Given the description of an element on the screen output the (x, y) to click on. 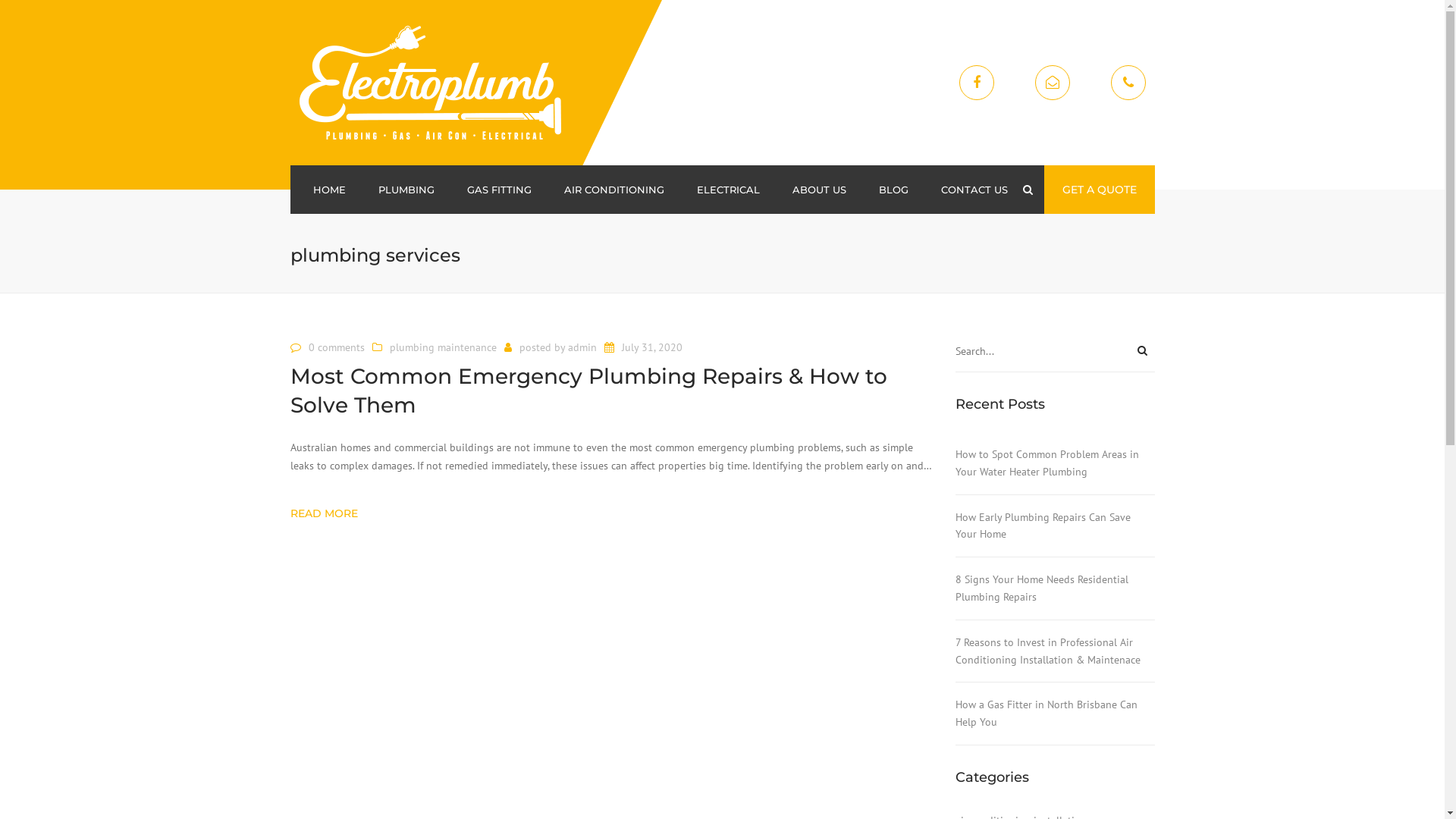
HOME Element type: text (328, 189)
Call Us Element type: text (1127, 82)
ABOUT US Element type: text (818, 189)
admin Element type: text (581, 347)
How Early Plumbing Repairs Can Save Your Home Element type: text (1054, 526)
ELECTRICAL Element type: text (727, 189)
GET A QUOTE Element type: text (1098, 189)
GAS FITTING Element type: text (499, 189)
8 Signs Your Home Needs Residential Plumbing Repairs Element type: text (1054, 588)
Search Element type: text (1026, 189)
Send Us A Message Element type: text (1051, 82)
PLUMBING Element type: text (405, 189)
How a Gas Fitter in North Brisbane Can Help You Element type: text (1054, 713)
plumbing maintenance Element type: text (442, 347)
CONTACT US Element type: text (973, 189)
Most Common Emergency Plumbing Repairs & How to Solve Them Element type: text (610, 396)
AIR CONDITIONING Element type: text (613, 189)
READ MORE Element type: text (329, 513)
0 comments Element type: text (335, 347)
Facebook Element type: text (975, 82)
BLOG Element type: text (892, 189)
